Given the description of an element on the screen output the (x, y) to click on. 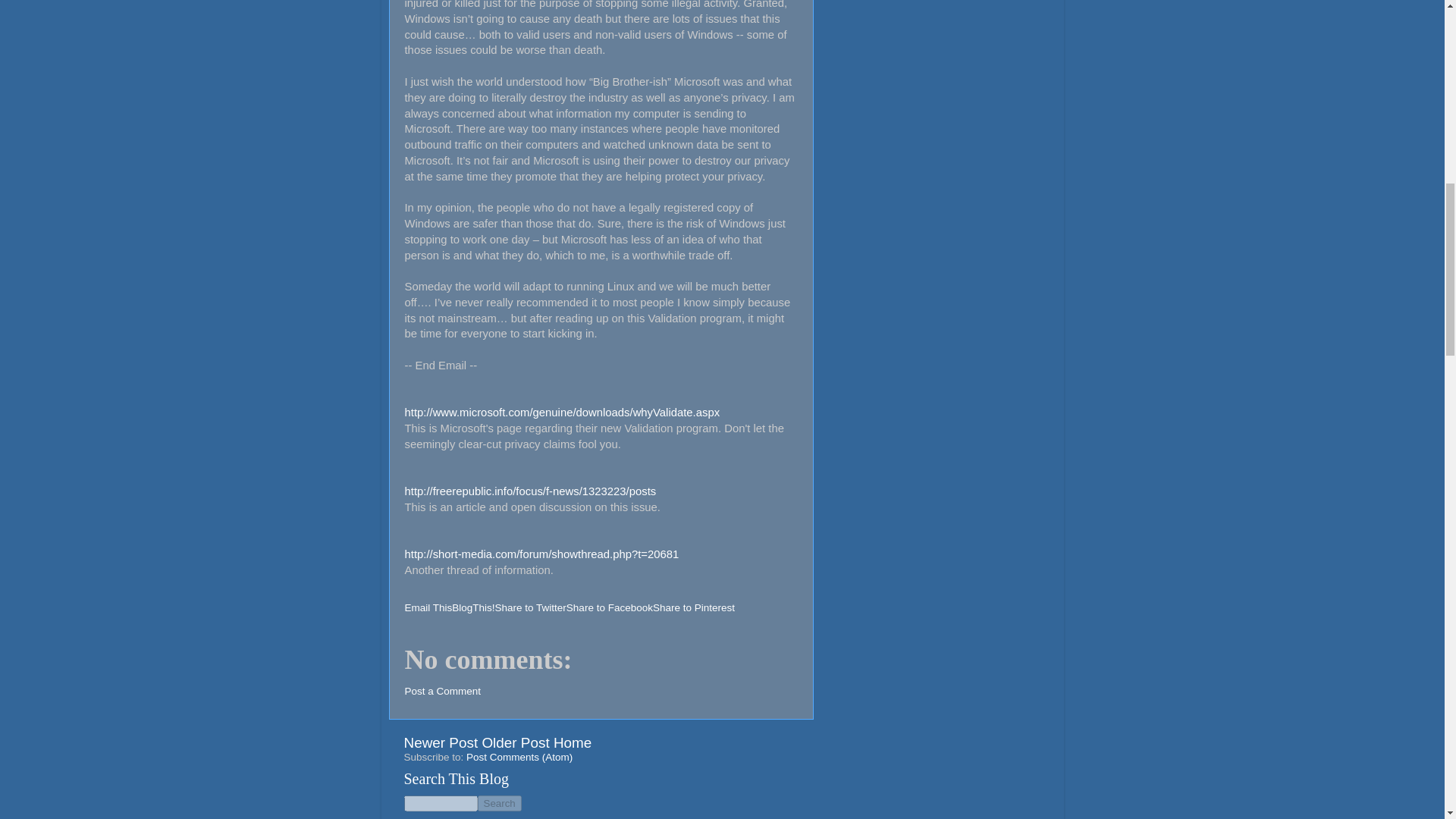
BlogThis! (473, 607)
Share to Facebook (609, 607)
Email This (428, 607)
Share to Twitter (530, 607)
Search (499, 803)
Share to Pinterest (693, 607)
Share to Facebook (609, 607)
Email This (428, 607)
BlogThis! (473, 607)
Search (499, 803)
